Given the description of an element on the screen output the (x, y) to click on. 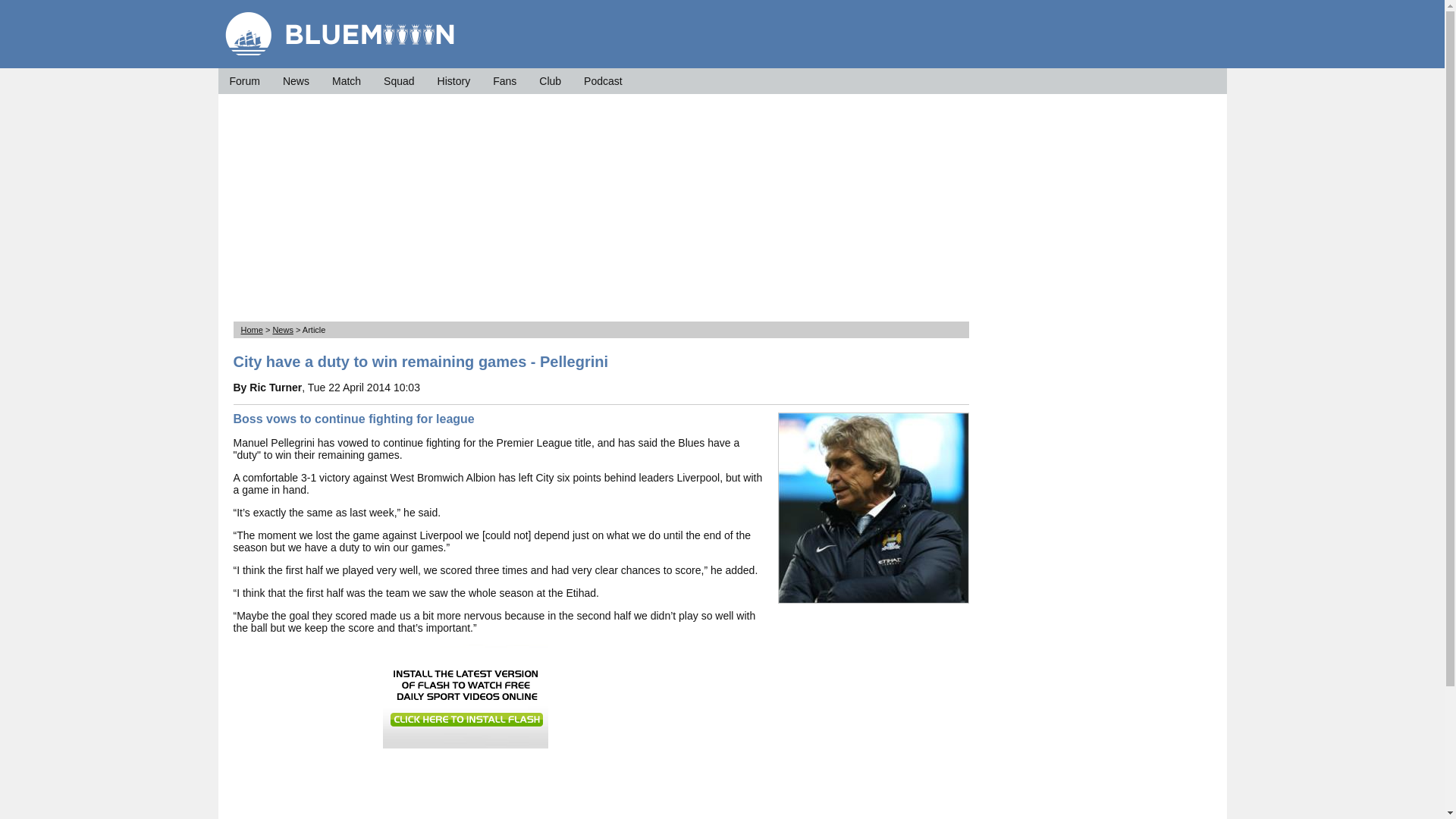
Match (346, 80)
Forum (243, 80)
Squad (398, 80)
News (283, 329)
History (454, 80)
News (295, 80)
Home (252, 329)
